Given the description of an element on the screen output the (x, y) to click on. 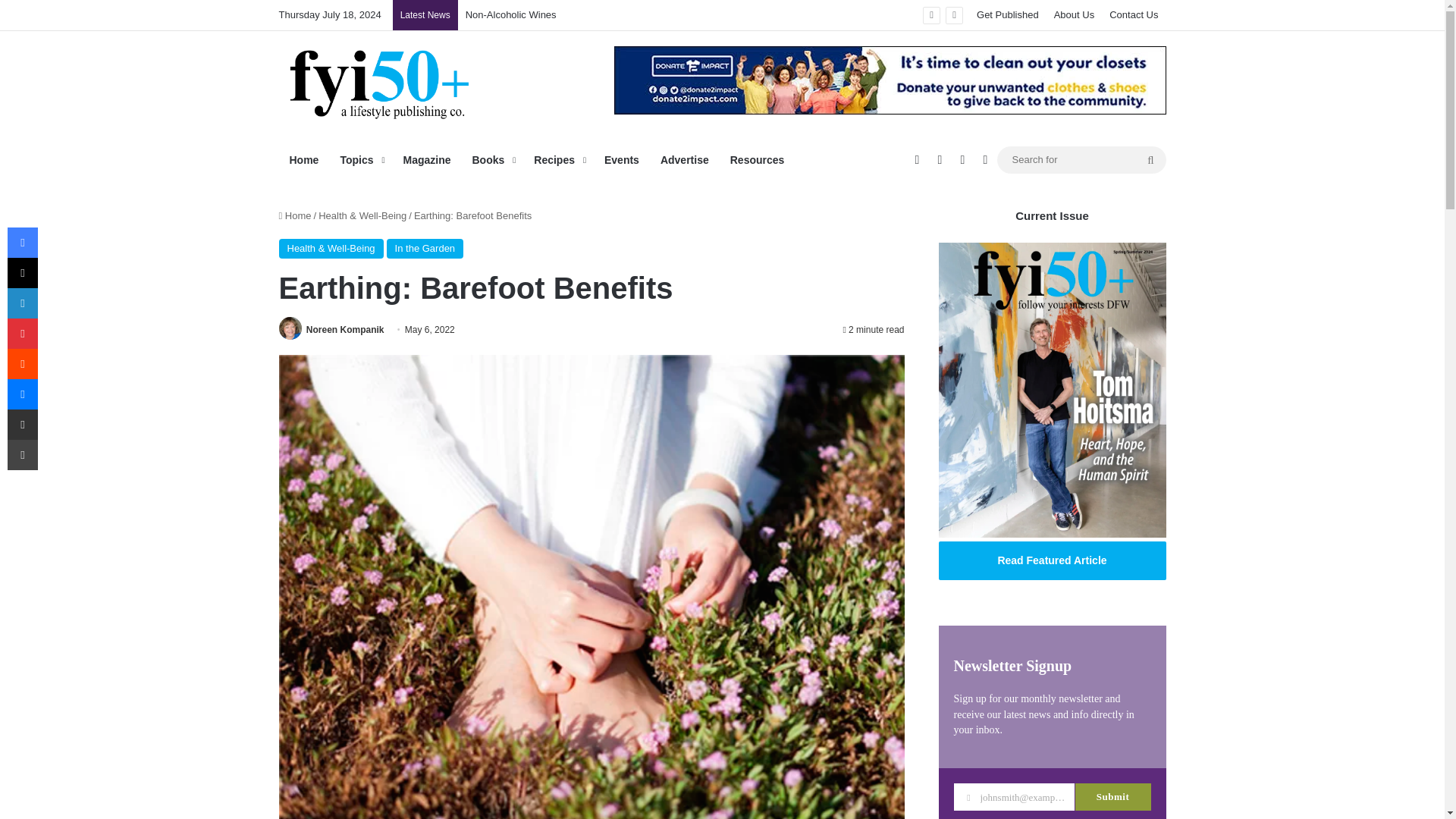
Recipes (558, 159)
Facebook (22, 242)
Advertise (684, 159)
Non-Alcoholic Wines (510, 14)
About Us (1074, 15)
Events (621, 159)
Contact Us (1134, 15)
Search for (1080, 159)
Search for (1150, 159)
X (22, 272)
Magazine (426, 159)
Books (491, 159)
Home (304, 159)
Topics (360, 159)
Resources (756, 159)
